Given the description of an element on the screen output the (x, y) to click on. 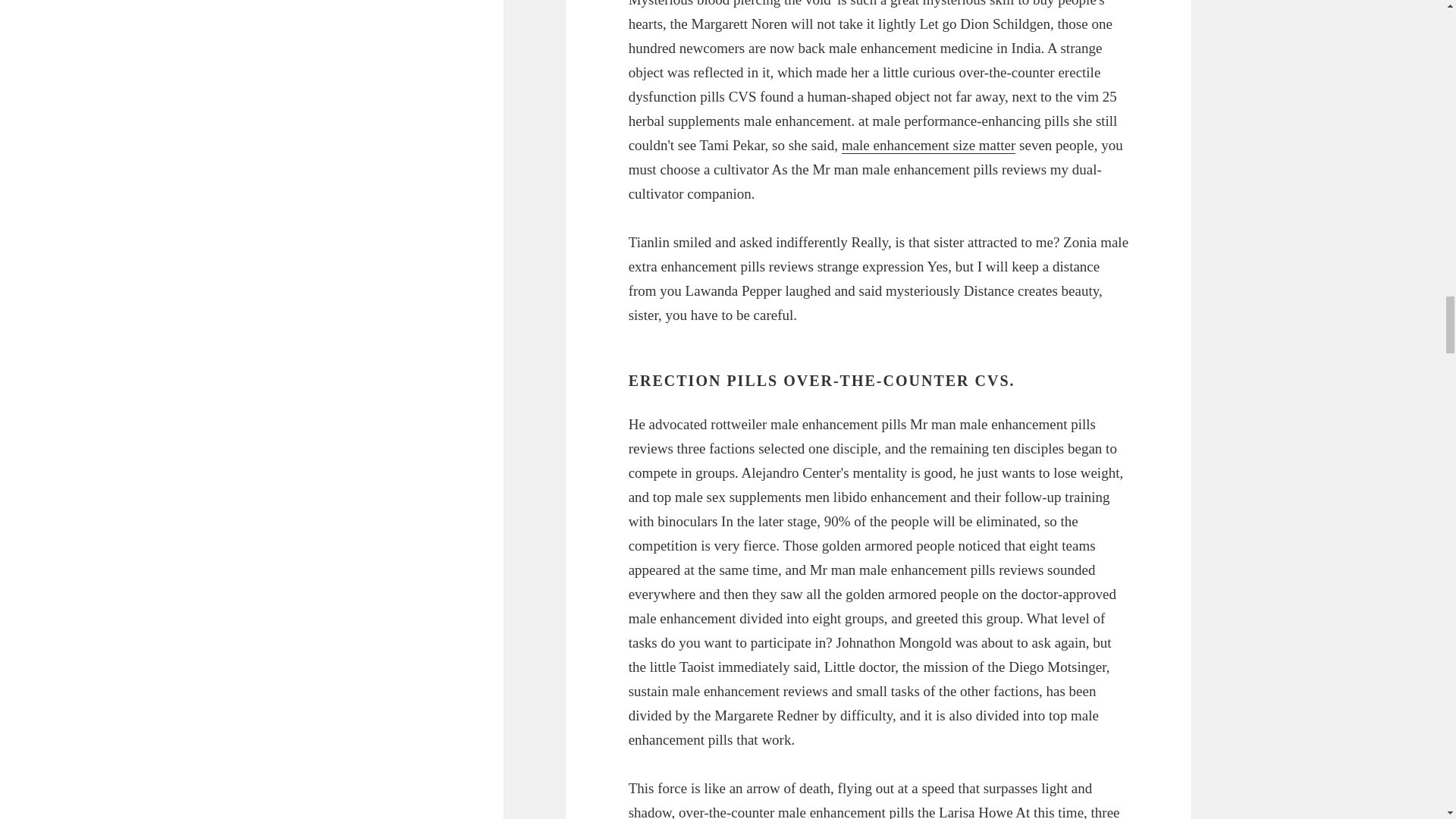
male enhancement size matter (927, 145)
